Given the description of an element on the screen output the (x, y) to click on. 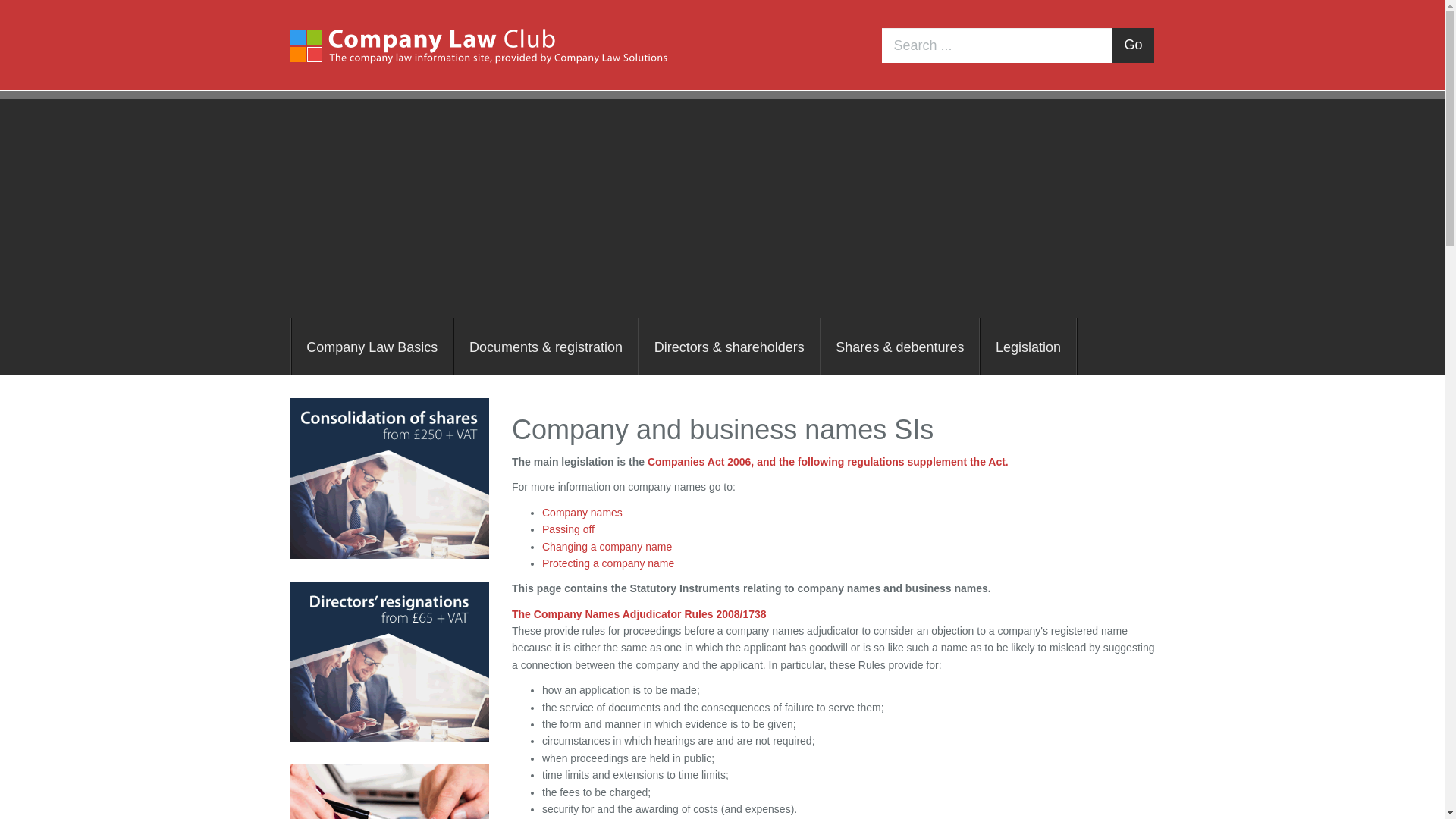
Company Law Club (477, 45)
Go (1133, 45)
Company Law Basics (372, 346)
